Given the description of an element on the screen output the (x, y) to click on. 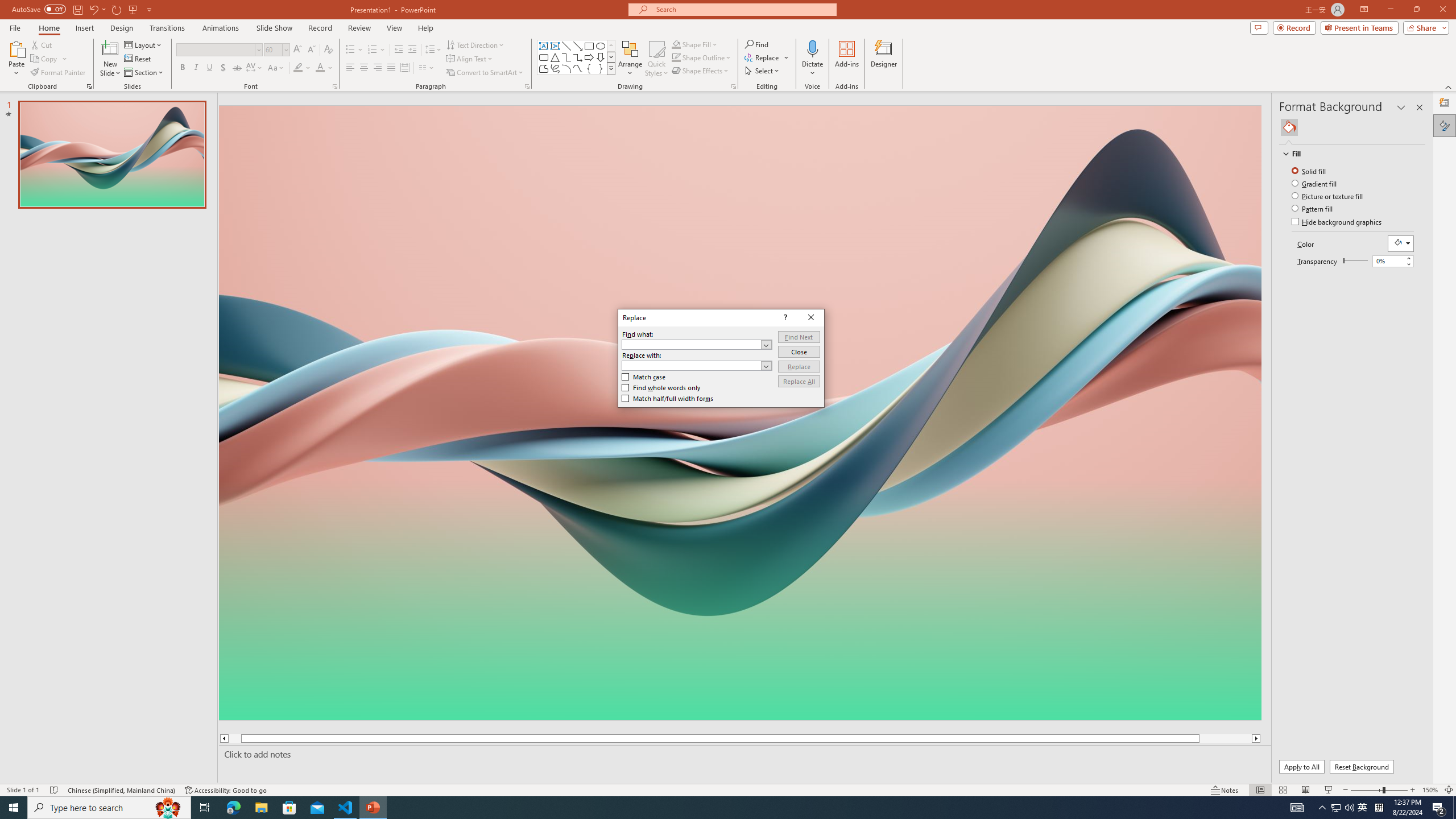
Picture or texture fill (1328, 195)
Fill (1347, 153)
Decorative Locked (739, 579)
